Given the description of an element on the screen output the (x, y) to click on. 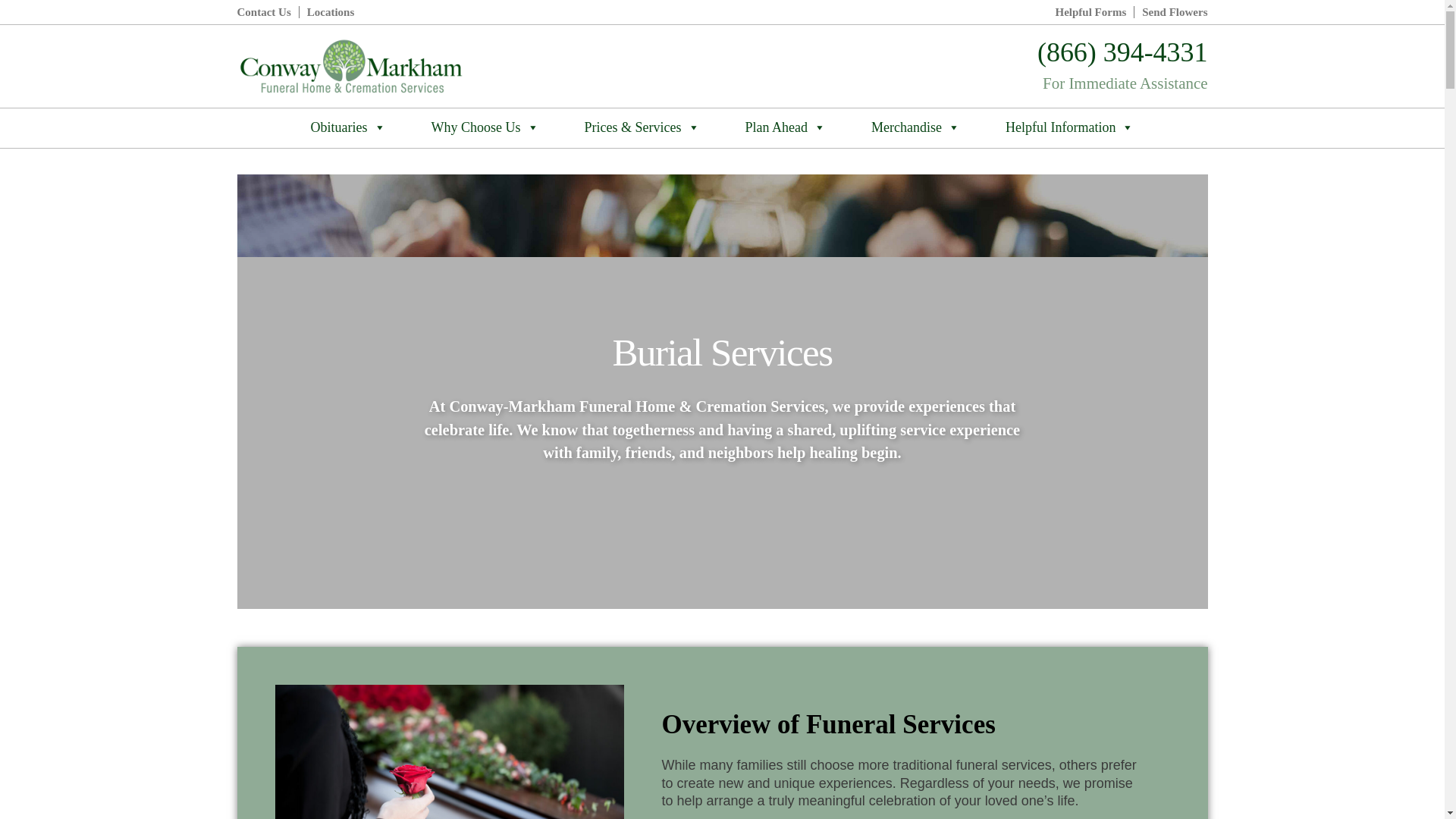
Helpful Forms (1090, 11)
Helpful Information (1069, 127)
Obituaries (348, 127)
Plan Ahead (785, 127)
Why Choose Us (485, 127)
Send Flowers (1174, 11)
Merchandise (915, 127)
Contact Us (262, 11)
Locations (331, 11)
